Given the description of an element on the screen output the (x, y) to click on. 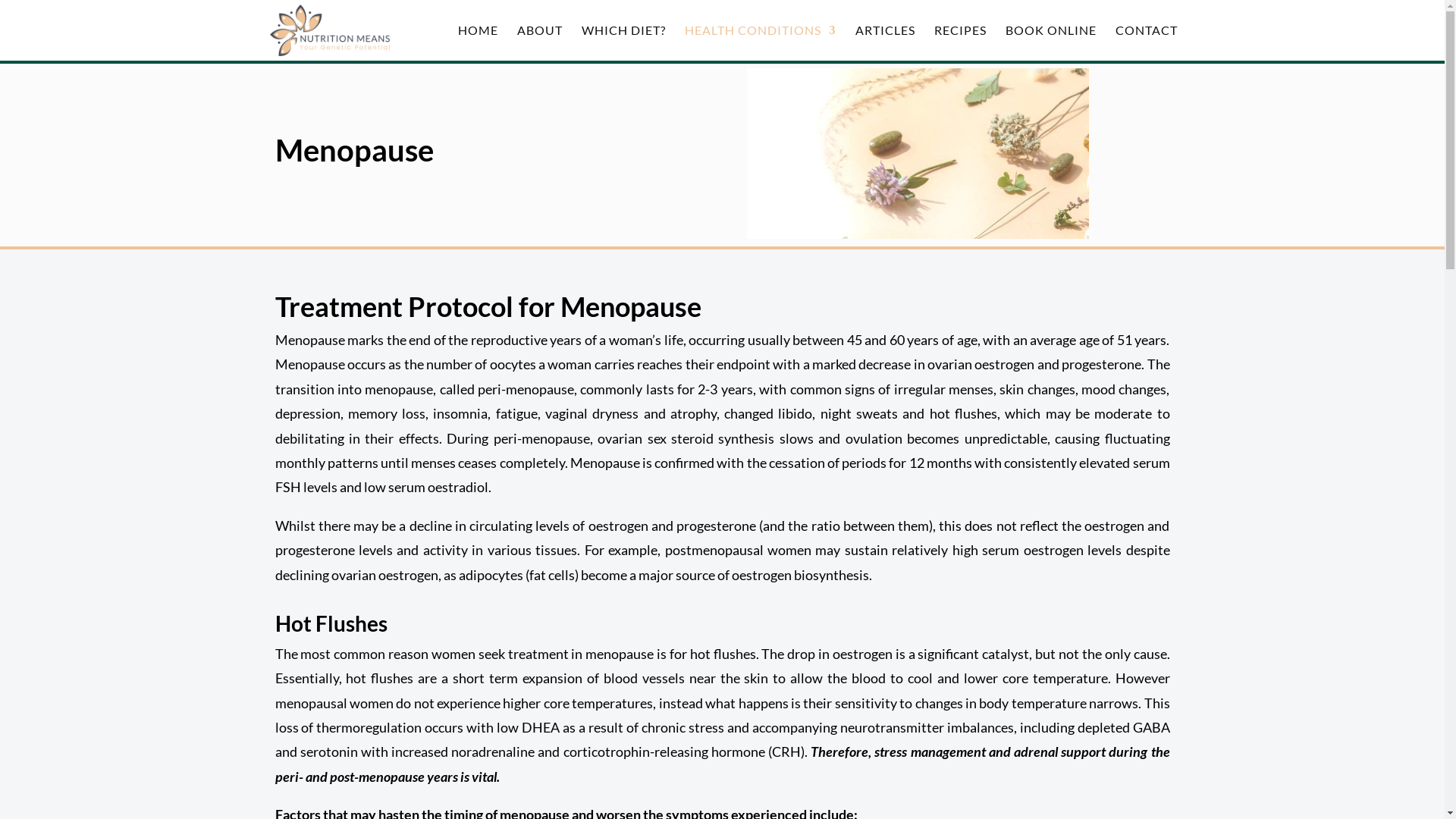
RECIPES Element type: text (960, 42)
BOOK ONLINE Element type: text (1050, 42)
WHICH DIET? Element type: text (622, 42)
ABOUT Element type: text (539, 42)
CONTACT Element type: text (1145, 42)
Treatment Protocol for Menopause Element type: text (487, 306)
HEALTH CONDITIONS Element type: text (759, 42)
ARTICLES Element type: text (885, 42)
HOME Element type: text (478, 42)
Nutrition Means Health Conditions Hero Element type: hover (917, 153)
